Given the description of an element on the screen output the (x, y) to click on. 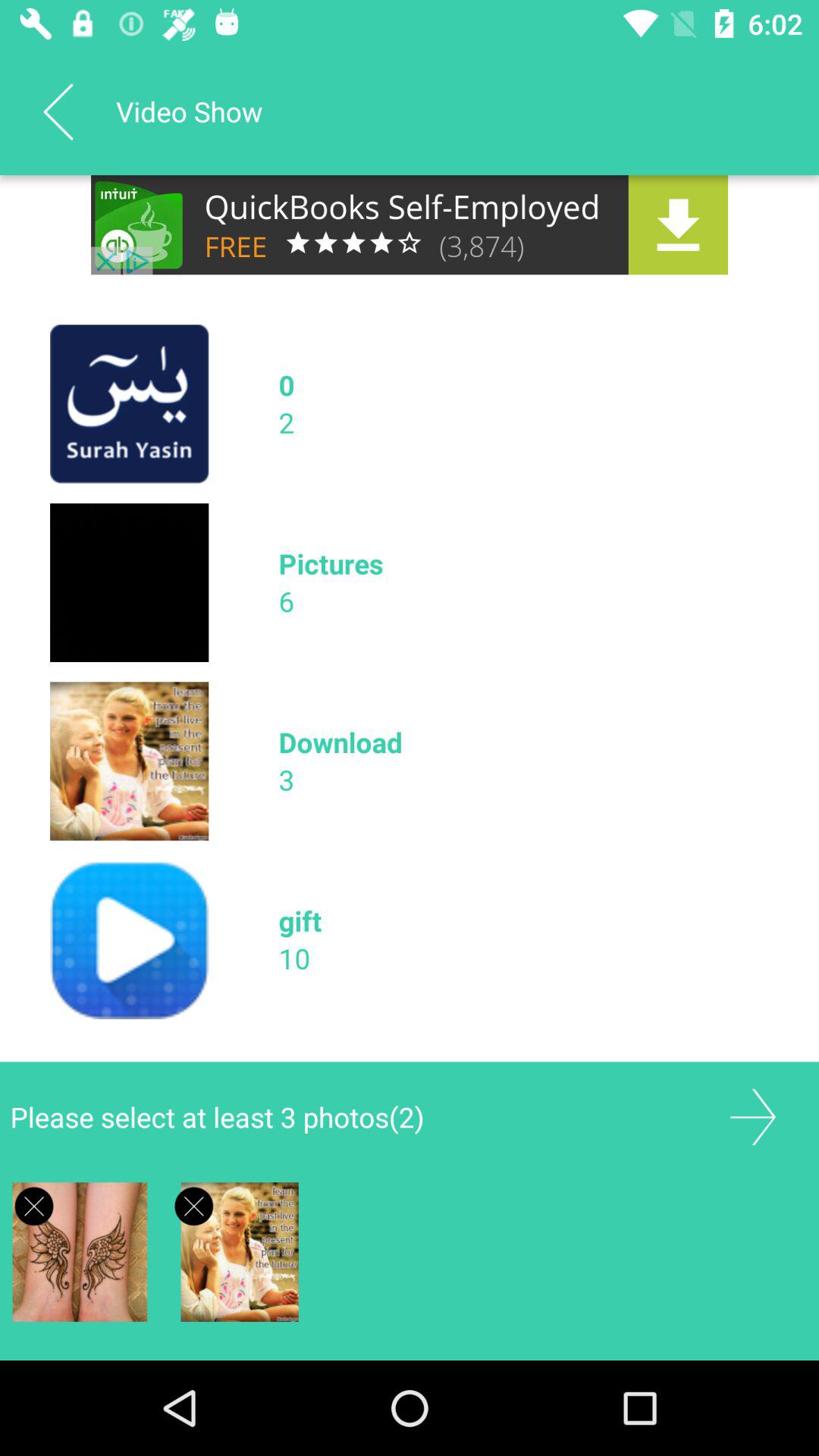
click on next arrow button at bottom (752, 1117)
